Given the description of an element on the screen output the (x, y) to click on. 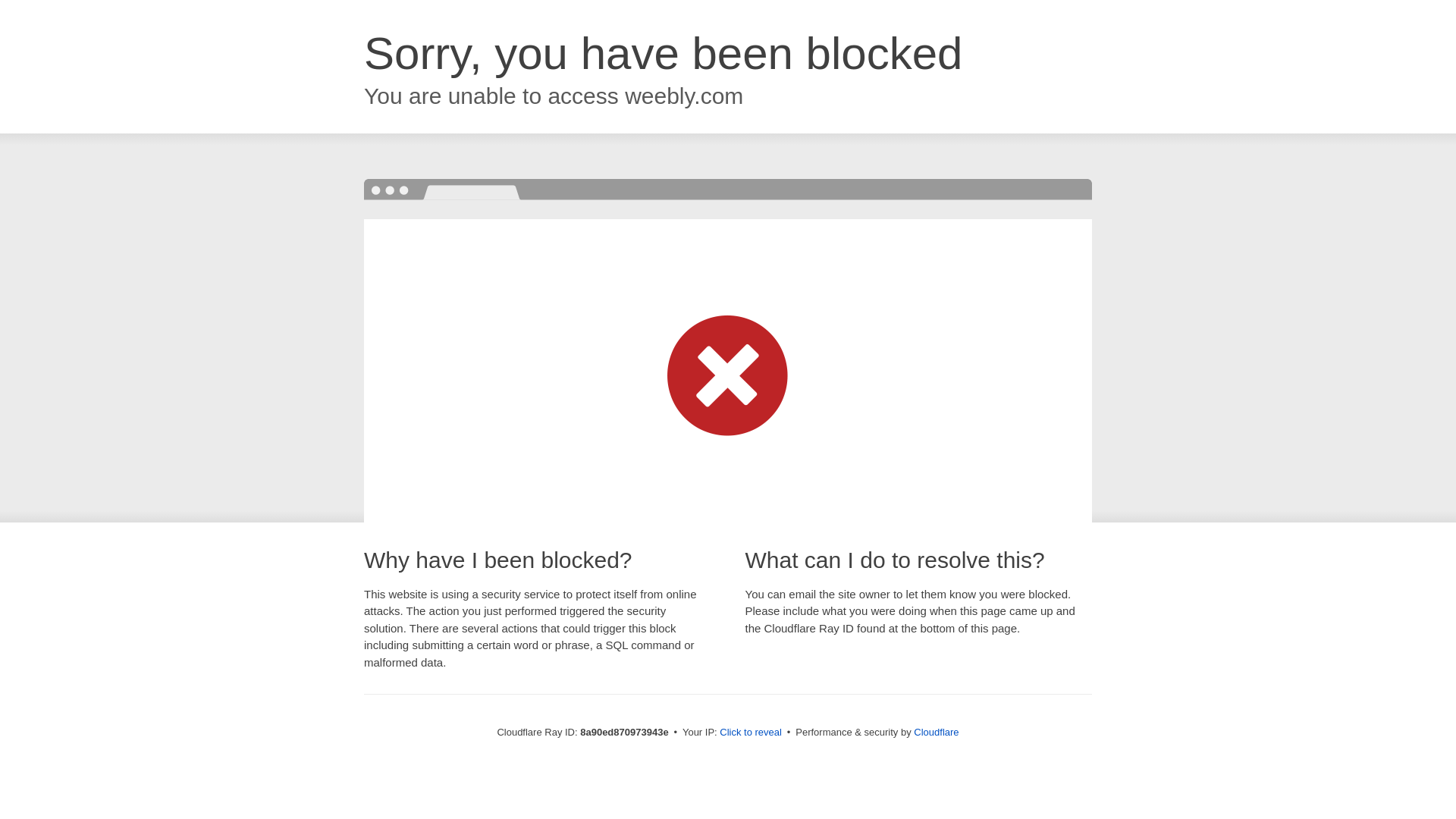
Click to reveal (750, 732)
Cloudflare (936, 731)
